Given the description of an element on the screen output the (x, y) to click on. 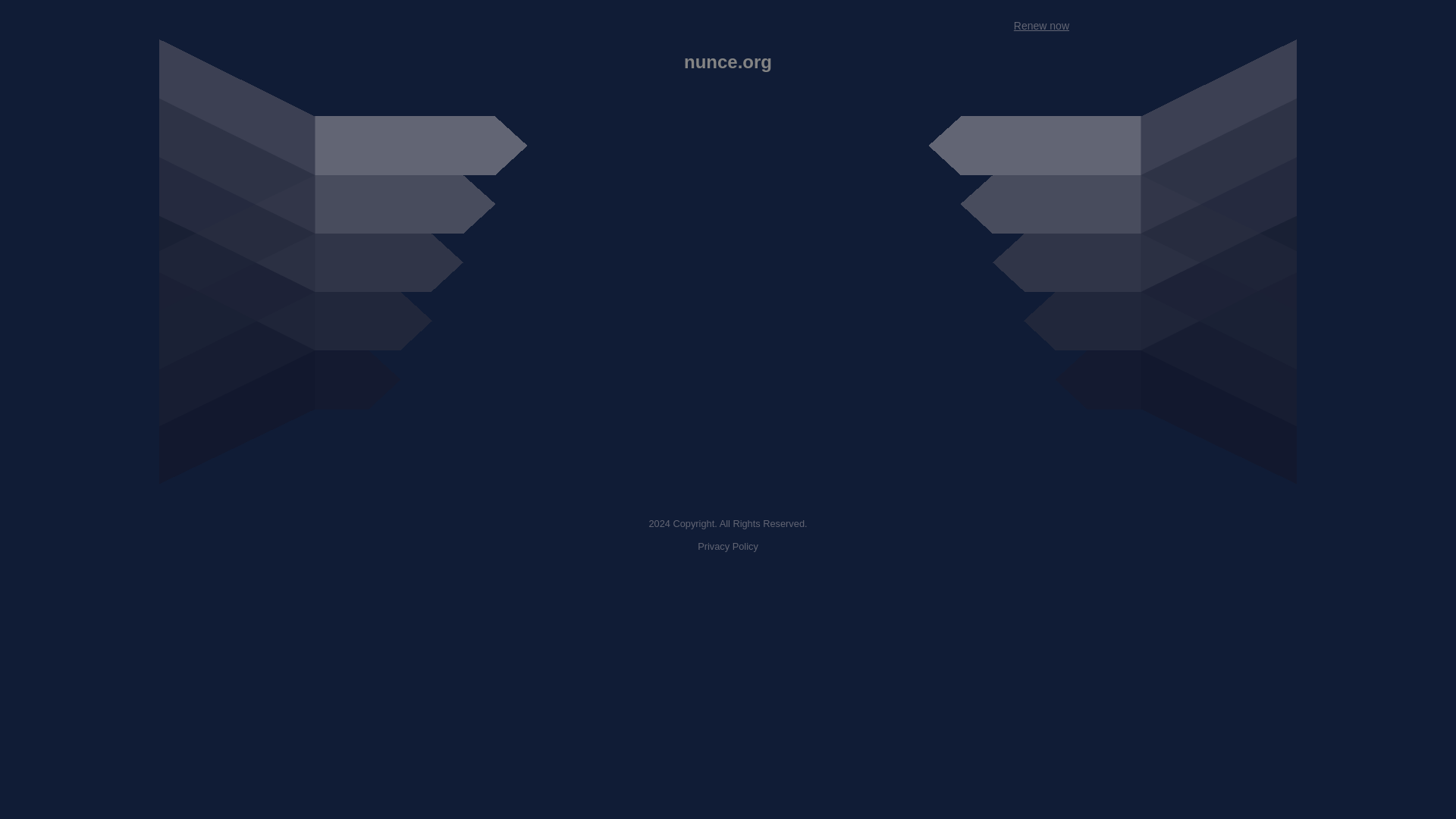
Privacy Policy (727, 546)
Renew now (1040, 25)
